Given the description of an element on the screen output the (x, y) to click on. 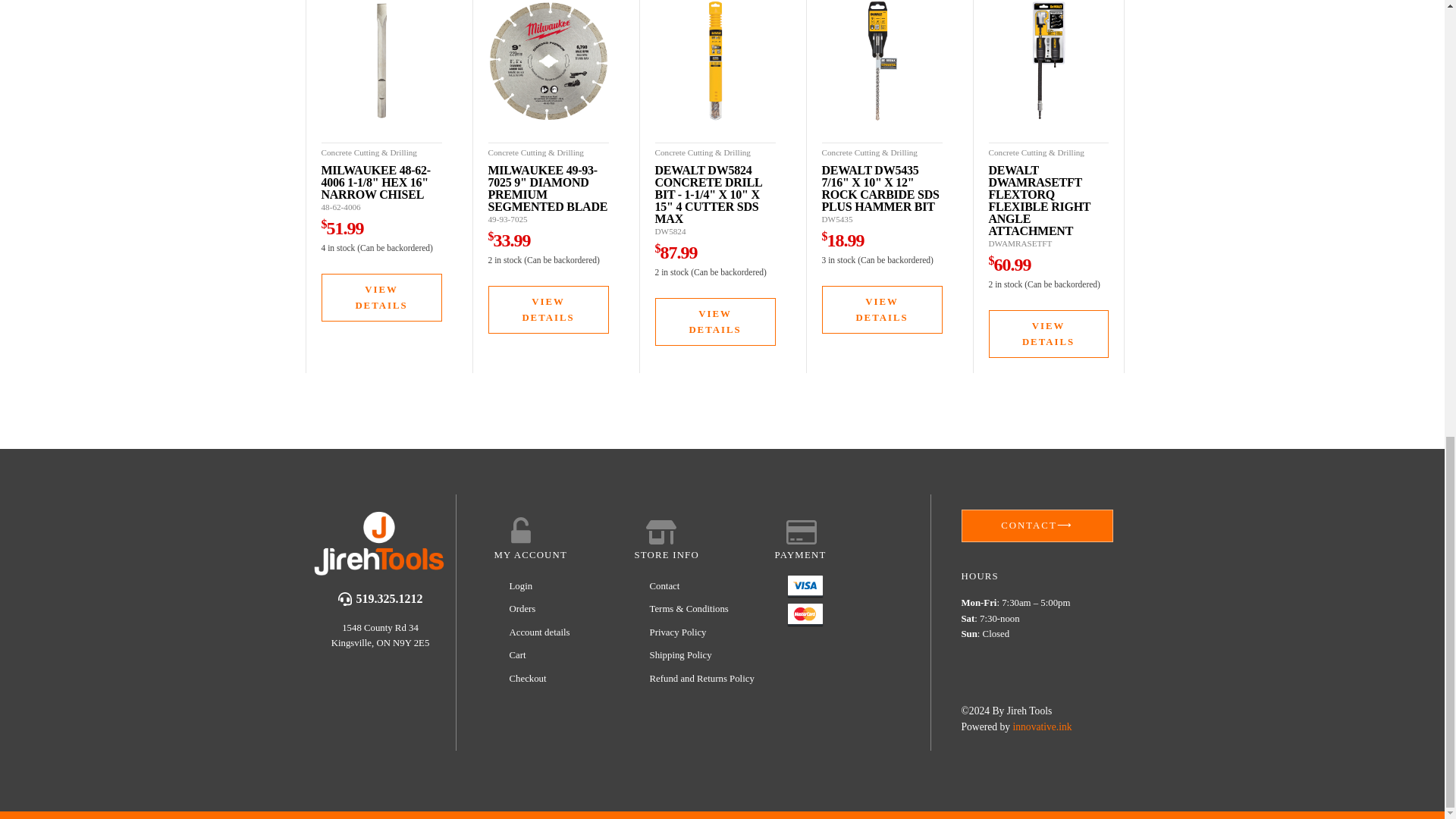
VIEW DETAILS (381, 297)
